Given the description of an element on the screen output the (x, y) to click on. 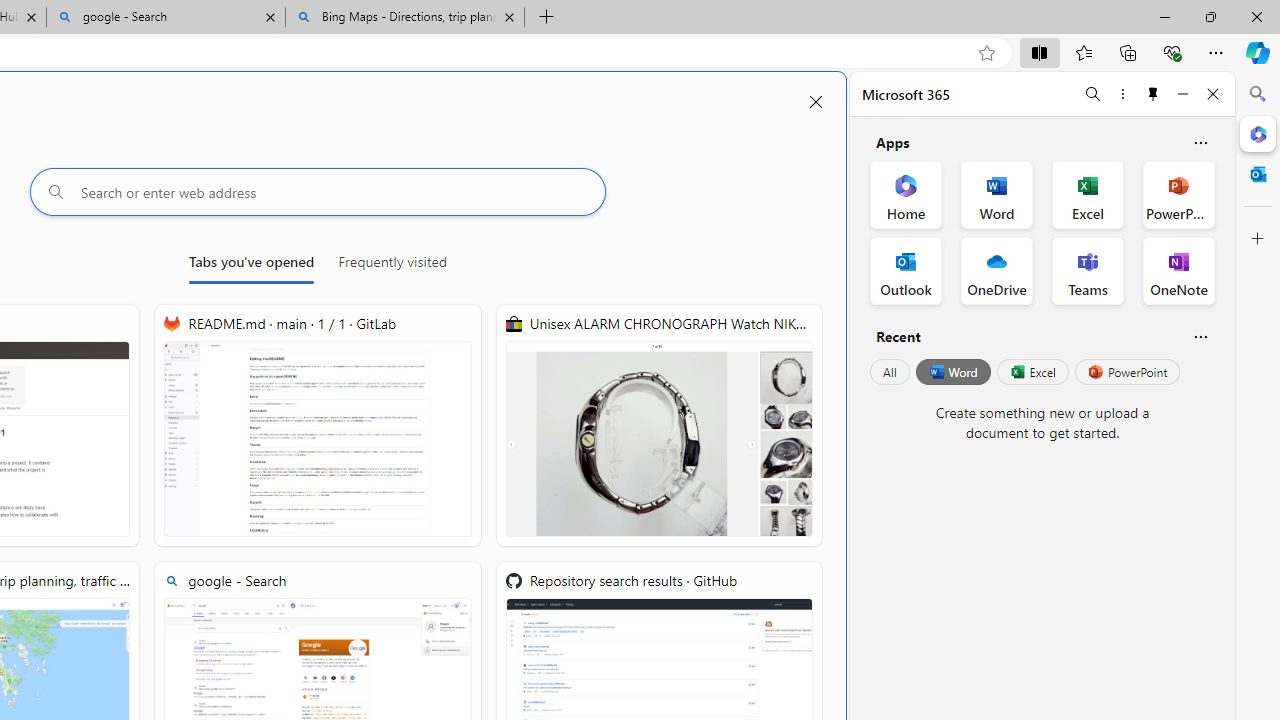
OneNote Office App (1178, 270)
google - Search (166, 17)
PowerPoint (1127, 372)
Close split screen (815, 102)
Excel Office App (1087, 194)
Is this helpful? (1200, 336)
Home Office App (906, 194)
Word Office App (996, 194)
Outlook Office App (906, 270)
